Given the description of an element on the screen output the (x, y) to click on. 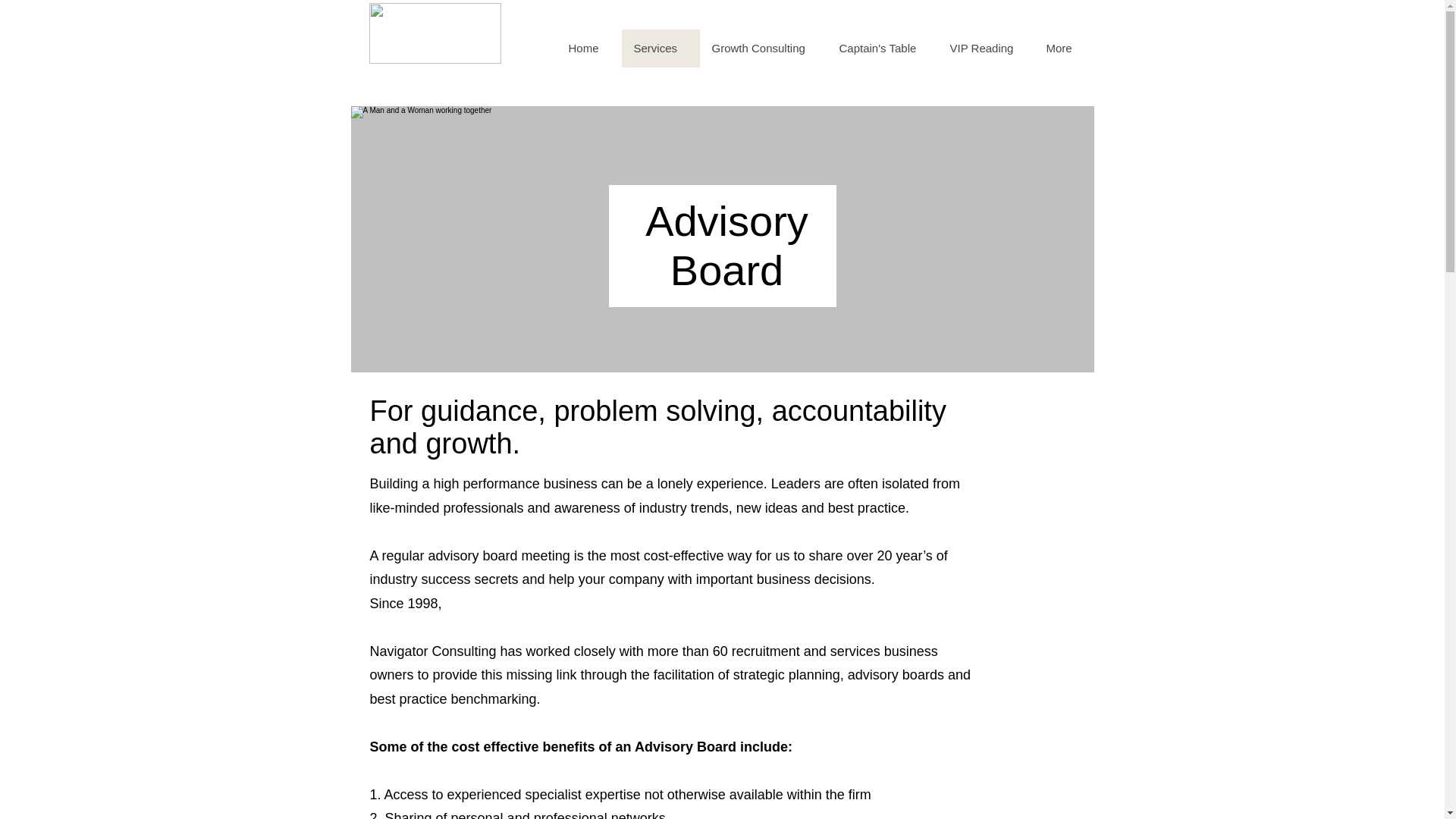
VIP Reading (985, 48)
Home (588, 48)
Services (660, 48)
Captain's Table (882, 48)
Growth Consulting (762, 48)
